Given the description of an element on the screen output the (x, y) to click on. 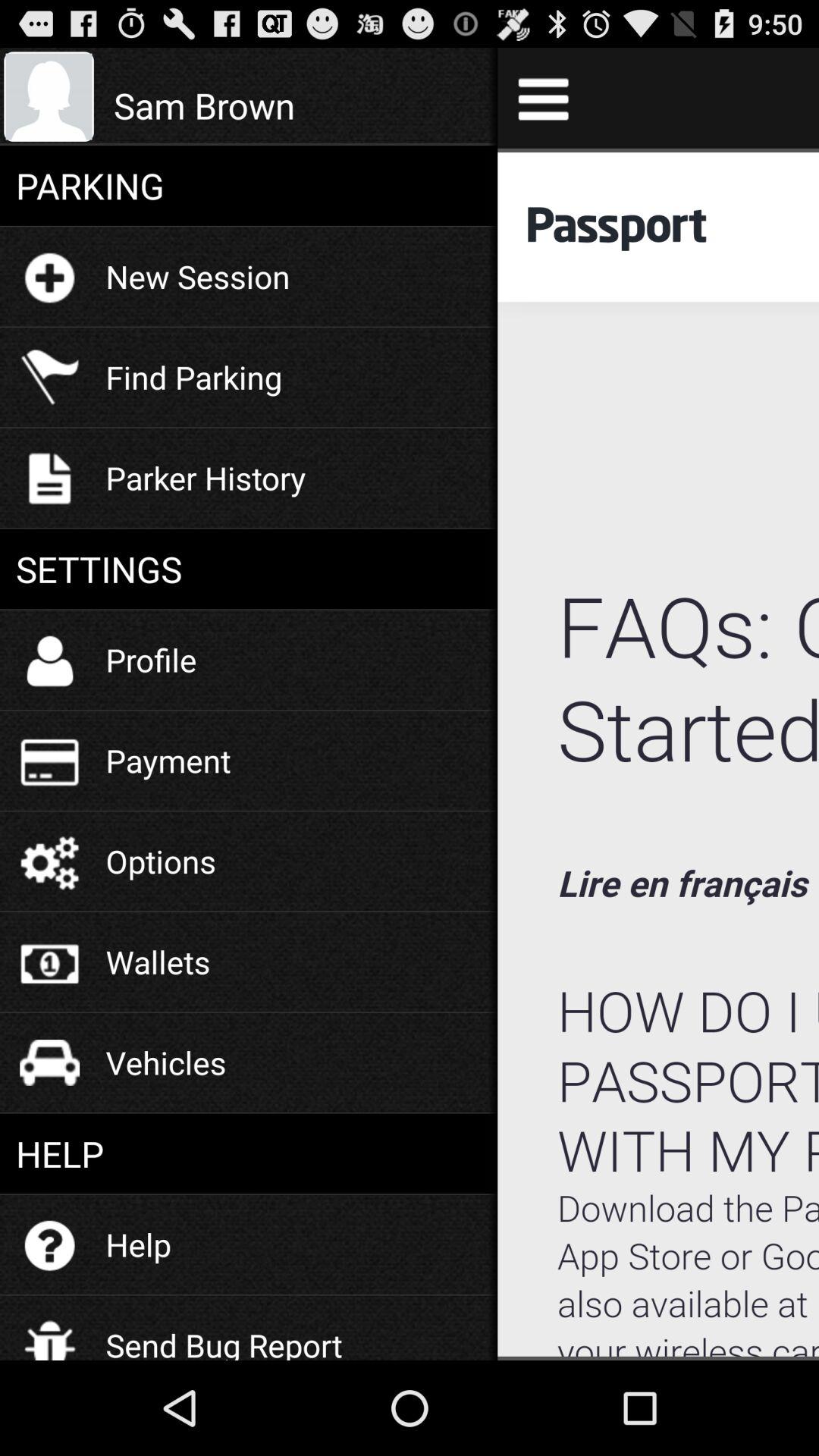
jump until the new session (197, 275)
